Given the description of an element on the screen output the (x, y) to click on. 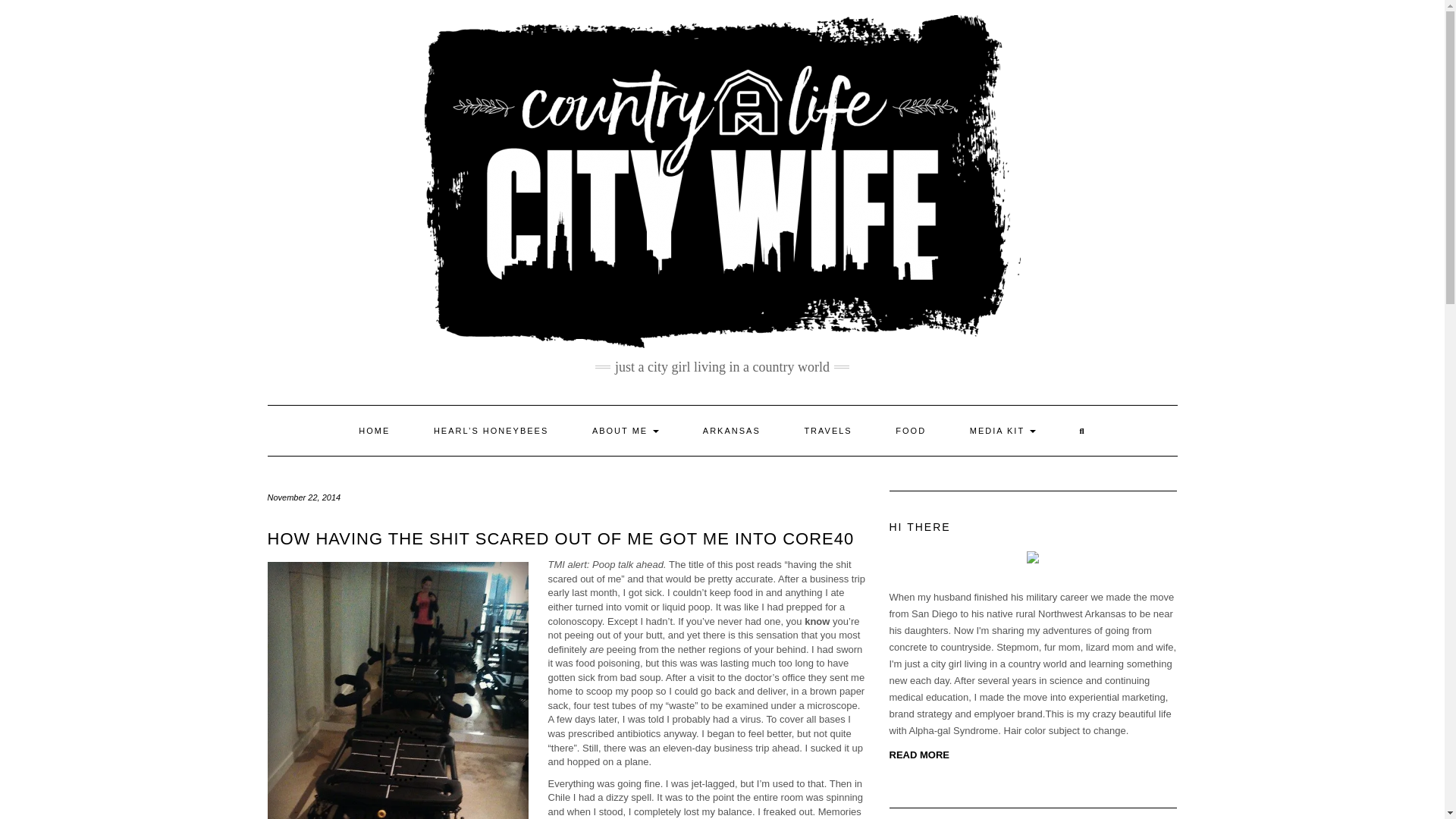
MEDIA KIT (1003, 430)
HOME (373, 430)
FOOD (910, 430)
TRAVELS (827, 430)
ABOUT ME (625, 430)
ARKANSAS (731, 430)
